Given the description of an element on the screen output the (x, y) to click on. 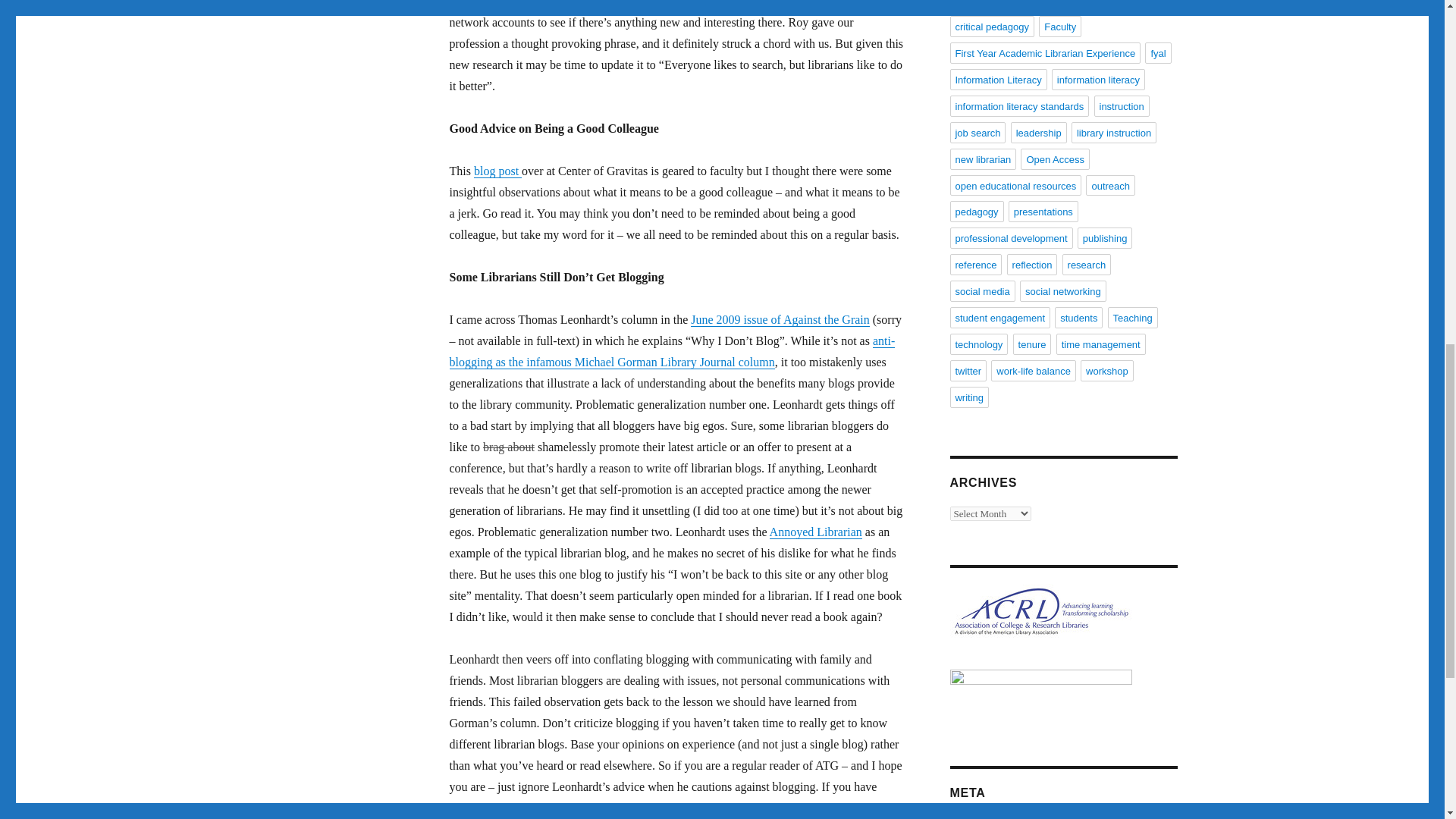
blog post (497, 170)
Annoyed Librarian (815, 531)
June 2009 issue of Against the Grain (779, 318)
